Given the description of an element on the screen output the (x, y) to click on. 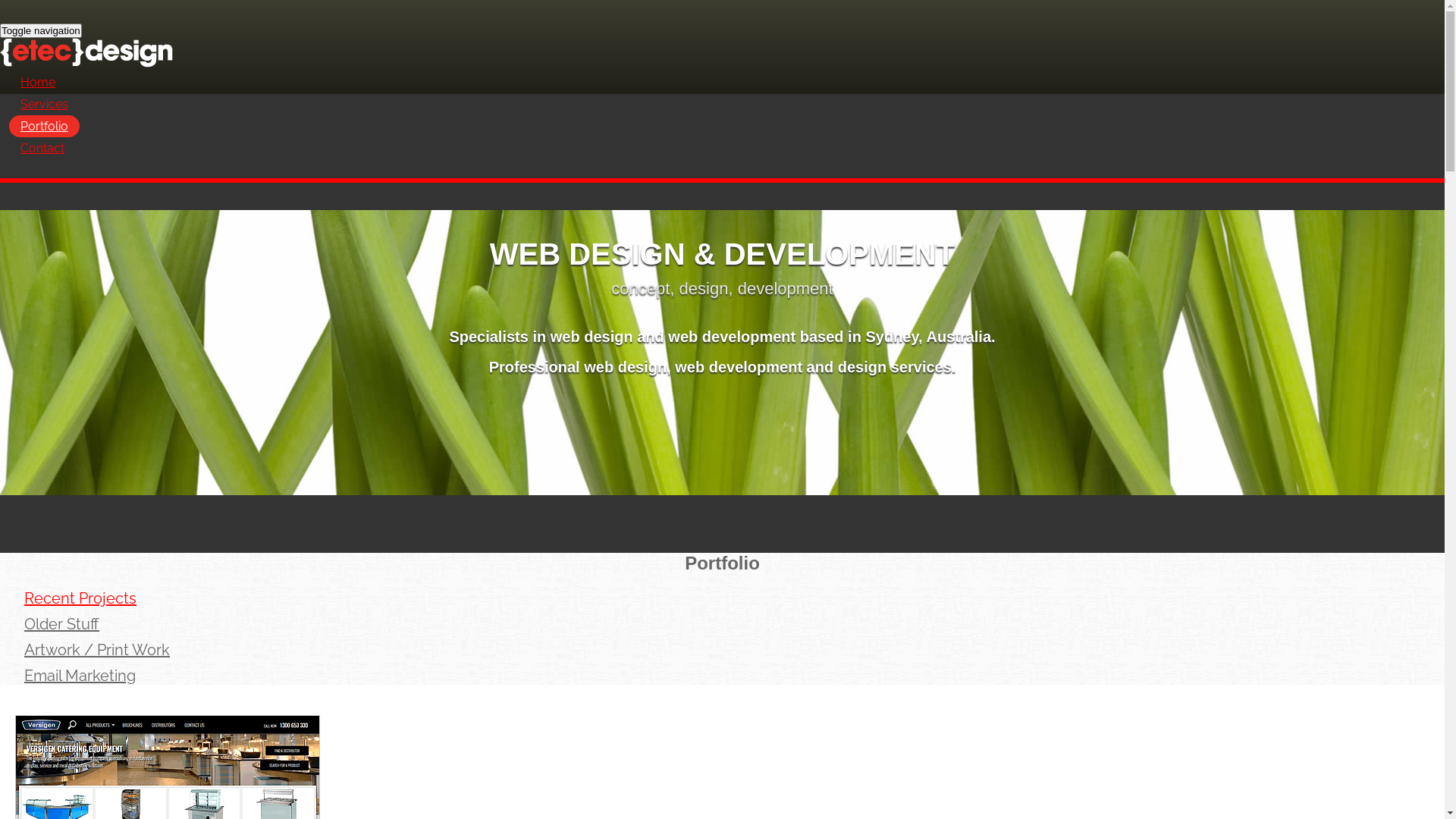
Artwork / Print Work Element type: text (97, 649)
Services Element type: text (44, 104)
EtecDesign - home page Element type: hover (722, 62)
Older Stuff Element type: text (61, 623)
Home Element type: text (37, 82)
Recent Projects Element type: text (80, 598)
Email Marketing Element type: text (79, 675)
Portfolio Element type: text (44, 126)
Toggle navigation Element type: text (40, 30)
Contact Element type: text (42, 148)
